Given the description of an element on the screen output the (x, y) to click on. 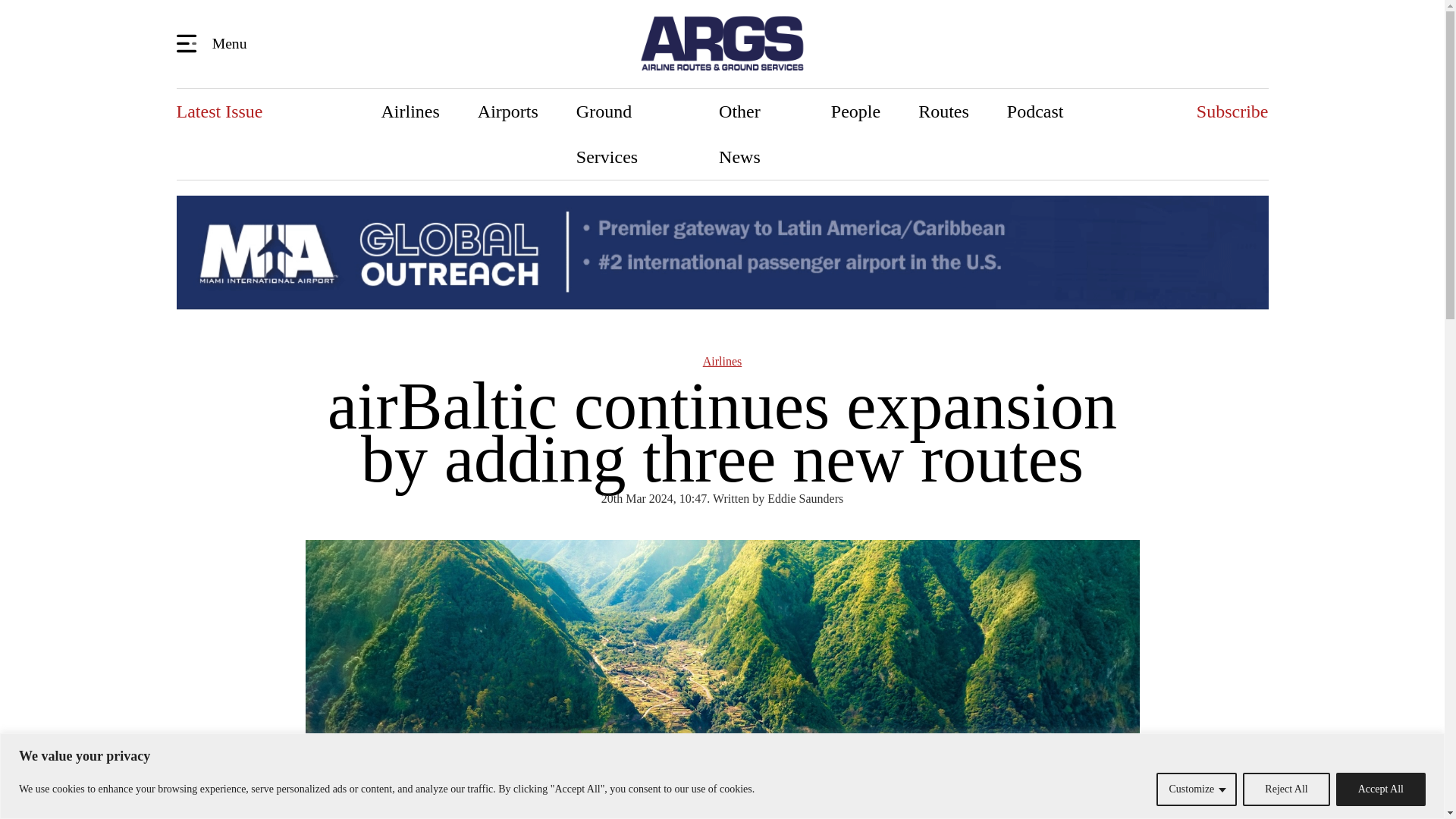
Ground Services (628, 133)
Accept All (1380, 788)
Latest Issue (219, 111)
Menu (213, 42)
Customize (1196, 788)
Other News (756, 133)
Routes (943, 111)
Podcast (1035, 111)
Reject All (1286, 788)
People (855, 111)
Airlines (410, 111)
Airports (507, 111)
